Given the description of an element on the screen output the (x, y) to click on. 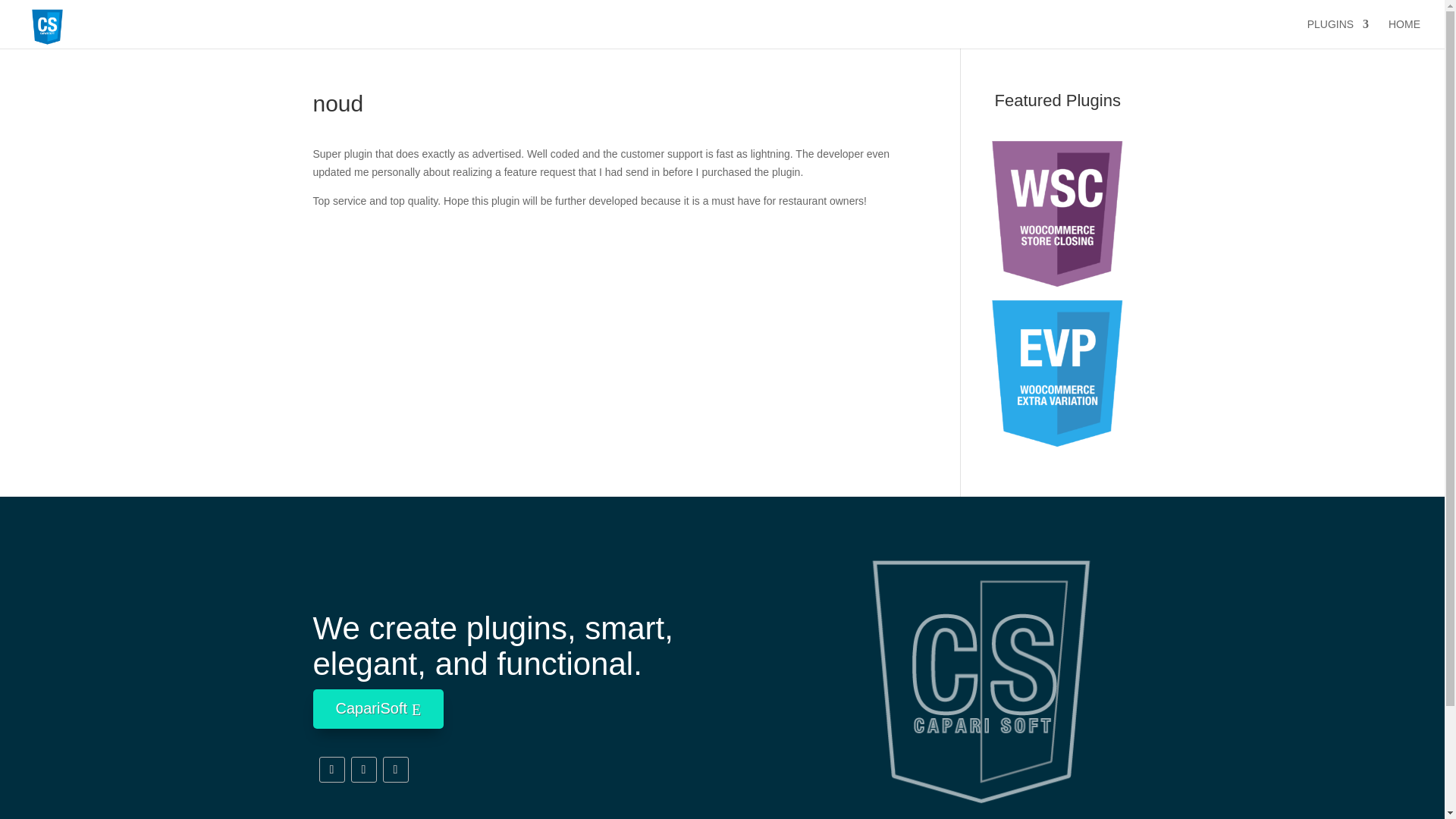
caparisoft-logo-stroke (981, 662)
We create plugins, smart, elegant, and functional. (549, 649)
Follow on X (330, 769)
CapariSoft (378, 708)
Follow on Youtube (394, 769)
HOME (1405, 33)
Follow on Instagram (362, 769)
PLUGINS (1337, 33)
